Given the description of an element on the screen output the (x, y) to click on. 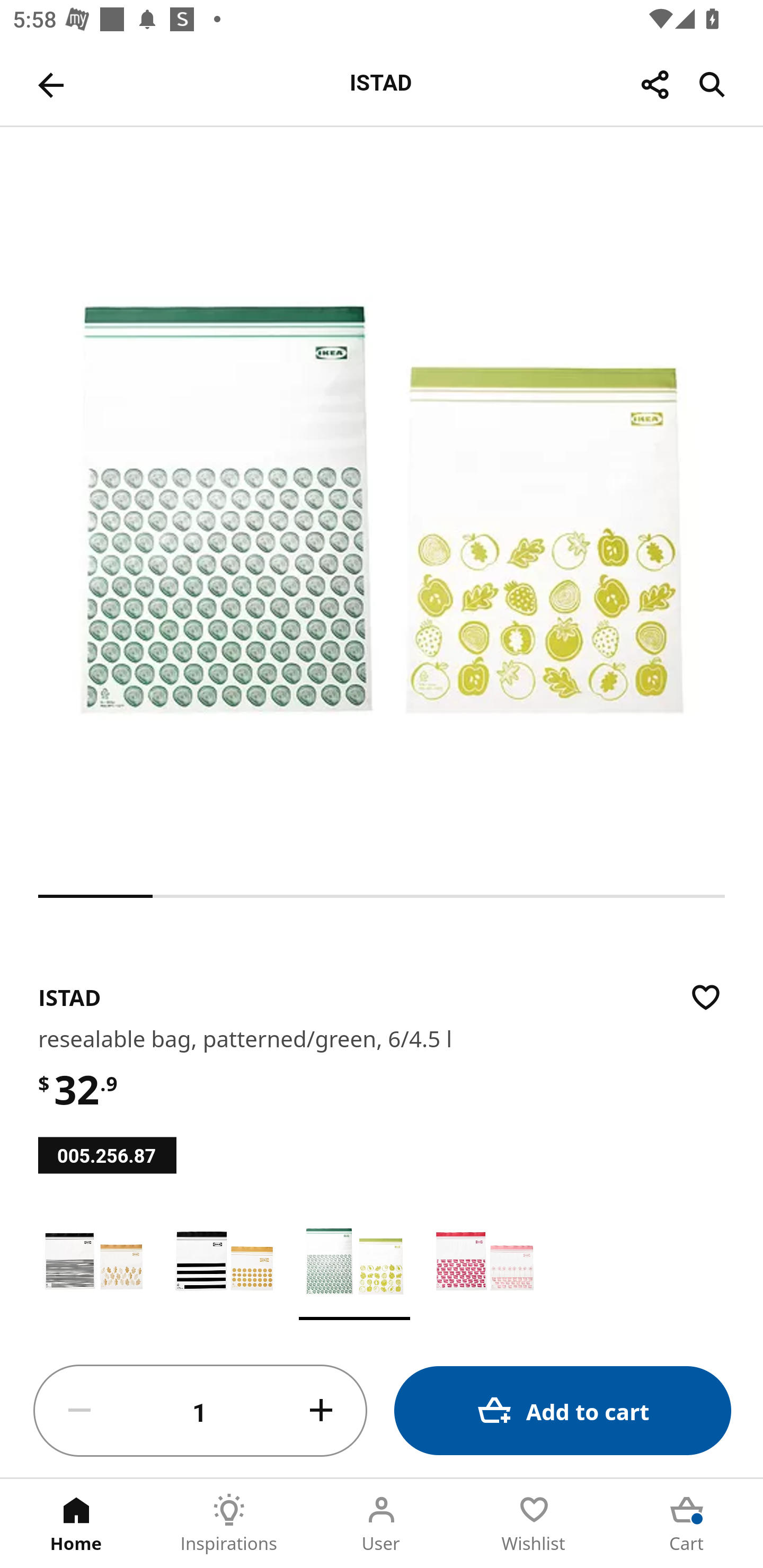
Add to cart (562, 1410)
1 (200, 1411)
Home
Tab 1 of 5 (76, 1522)
Inspirations
Tab 2 of 5 (228, 1522)
User
Tab 3 of 5 (381, 1522)
Wishlist
Tab 4 of 5 (533, 1522)
Cart
Tab 5 of 5 (686, 1522)
